Given the description of an element on the screen output the (x, y) to click on. 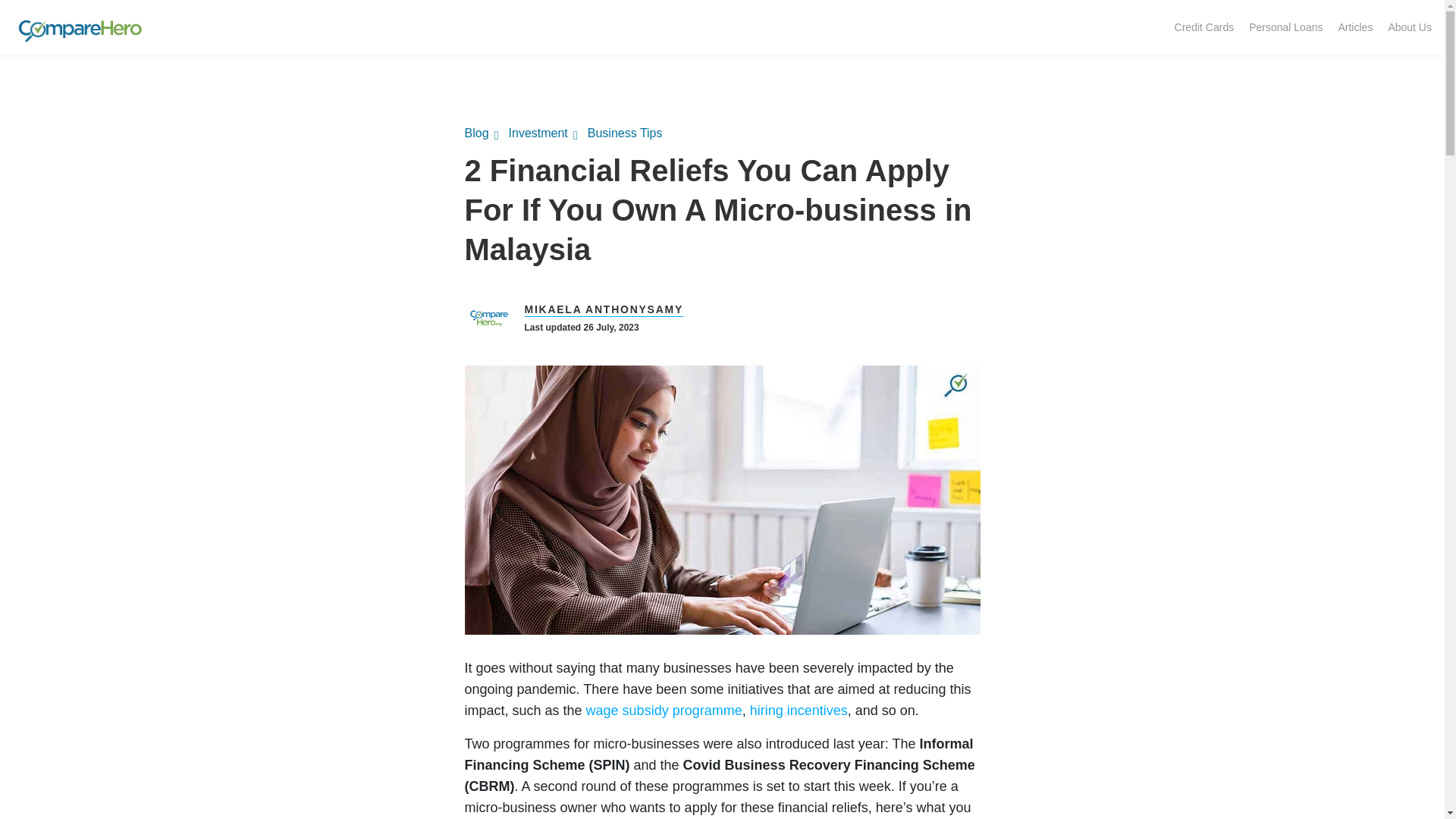
MIKAELA ANTHONYSAMY (604, 309)
hiring incentives (798, 710)
Articles (1355, 27)
Personal Loans (1285, 27)
Blog (480, 132)
Business Tips (630, 132)
About Us (1409, 27)
Investment (543, 132)
wage subsidy programme (664, 710)
Credit Cards (1204, 27)
